Given the description of an element on the screen output the (x, y) to click on. 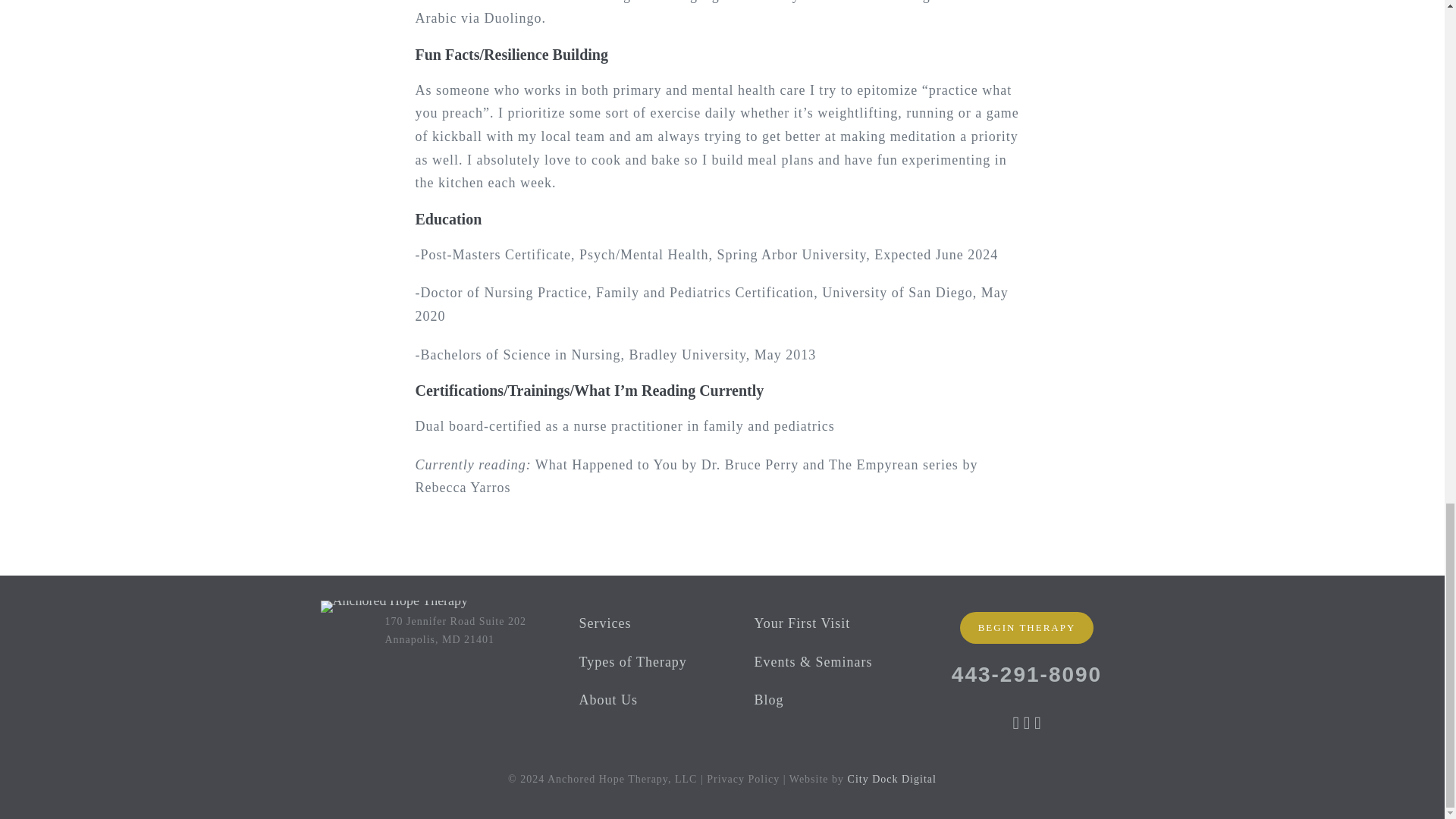
logo-footer (393, 606)
